Given the description of an element on the screen output the (x, y) to click on. 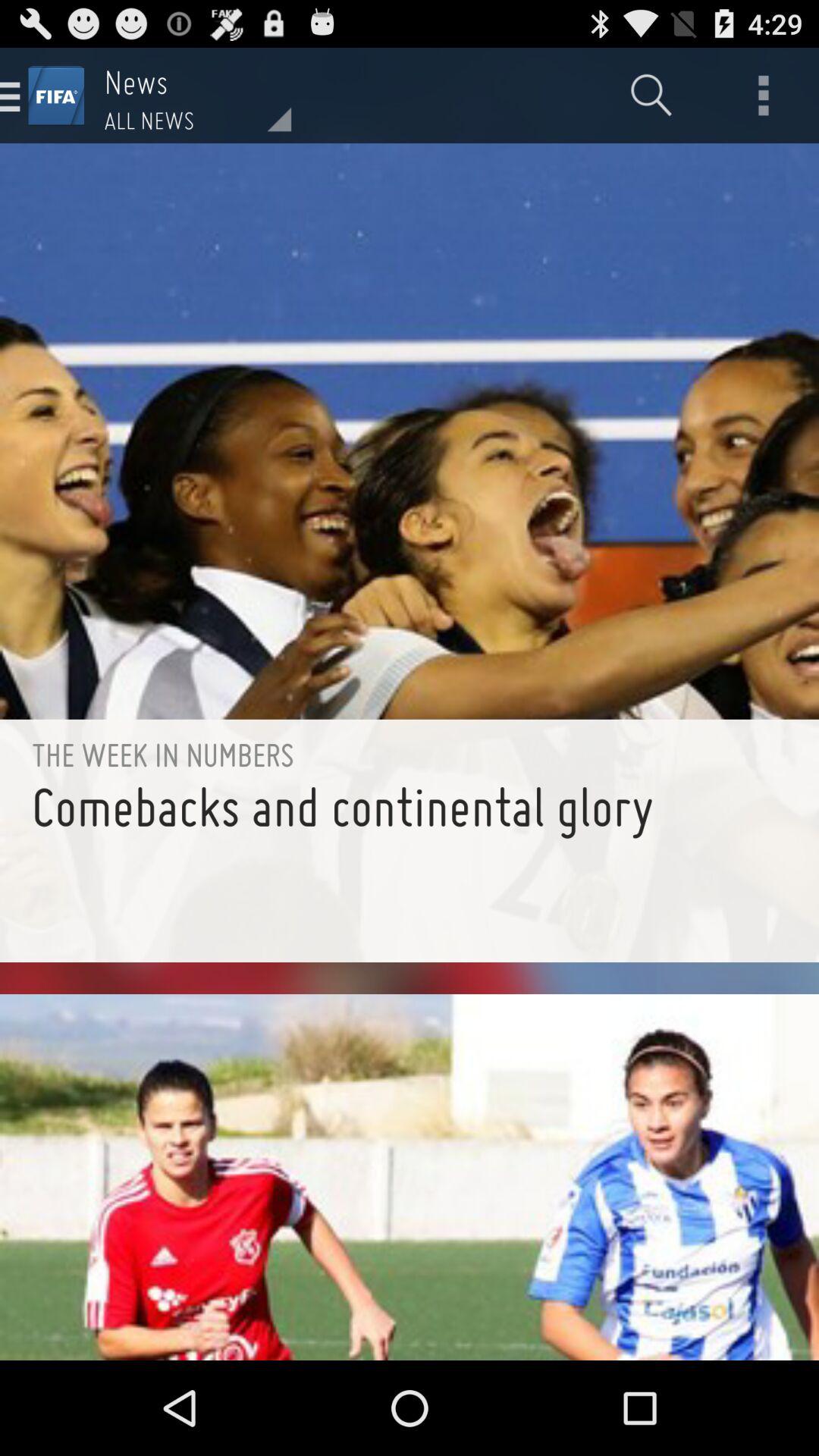
choose icon below the the week in icon (409, 868)
